Given the description of an element on the screen output the (x, y) to click on. 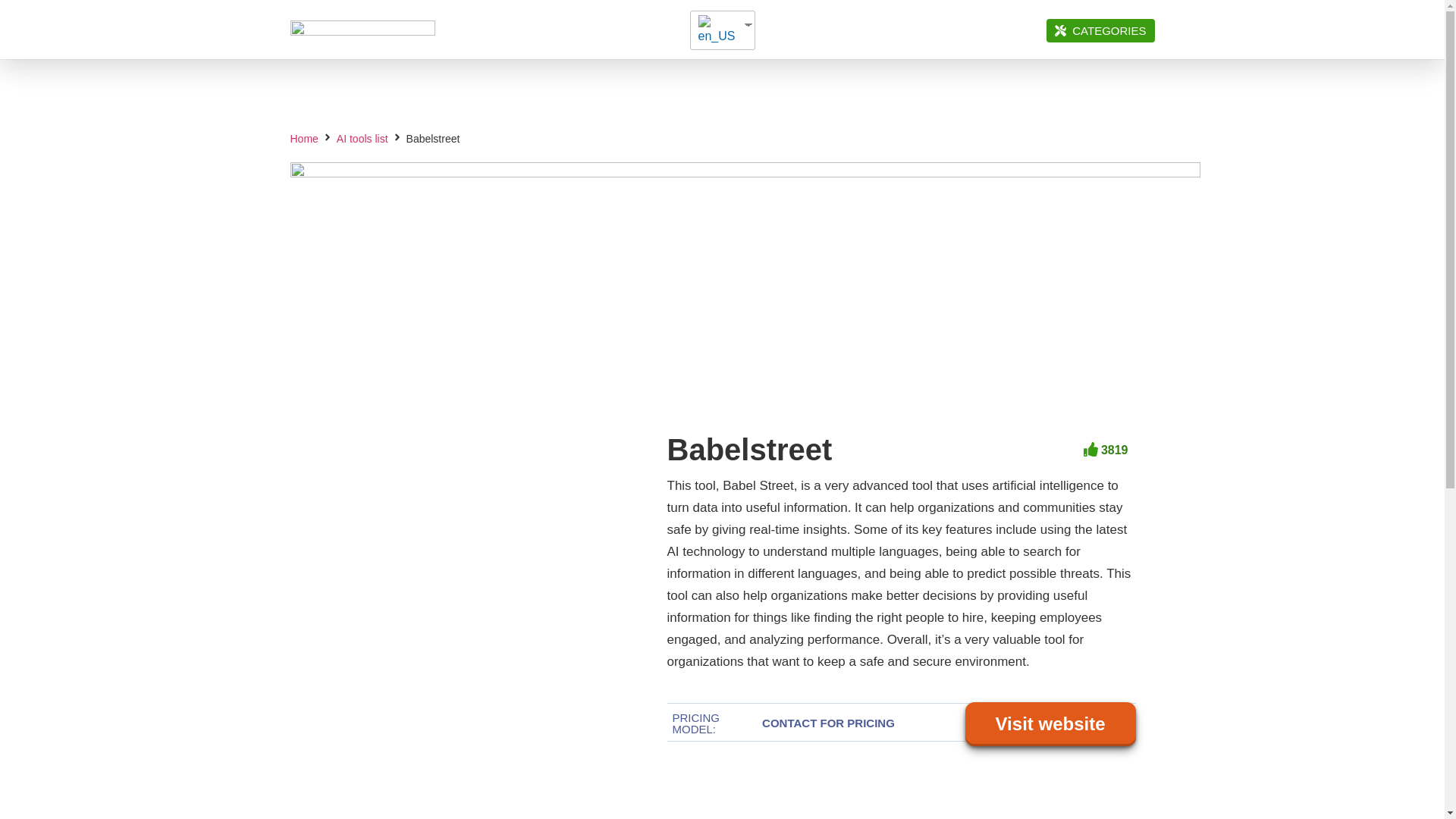
Visit website (1051, 724)
AI tools list (362, 139)
Babelstreet (749, 449)
Home (303, 139)
CATEGORIES (1100, 29)
English (716, 30)
English (716, 29)
Home (303, 139)
